Given the description of an element on the screen output the (x, y) to click on. 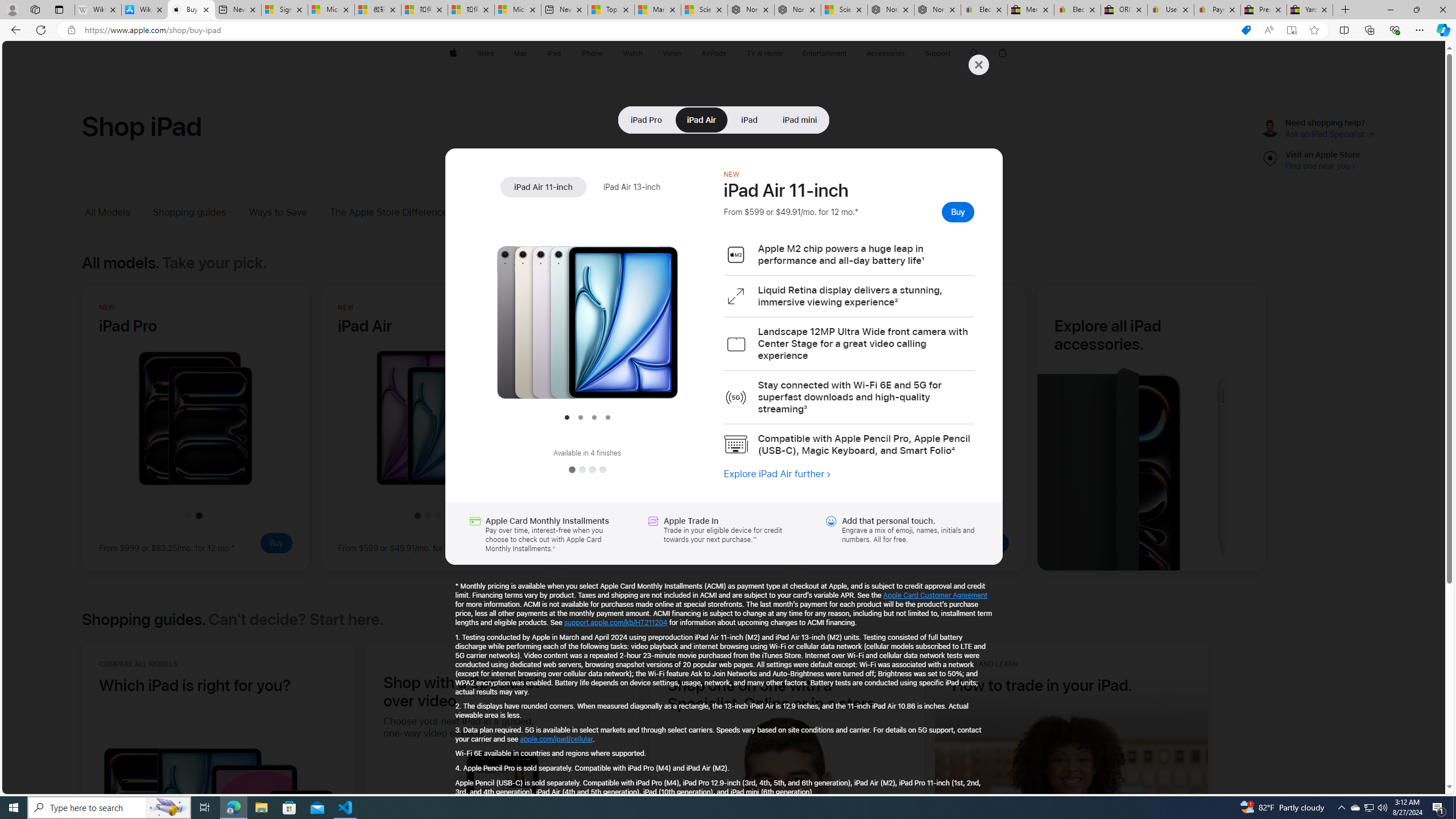
User Privacy Notice | eBay (1170, 9)
iPad Air (701, 119)
Nordace - Summer Adventures 2024 (890, 9)
Item 3 (593, 417)
Apple Card Customer Agreement (Opens in a new window) (935, 595)
Blue (581, 469)
